Given the description of an element on the screen output the (x, y) to click on. 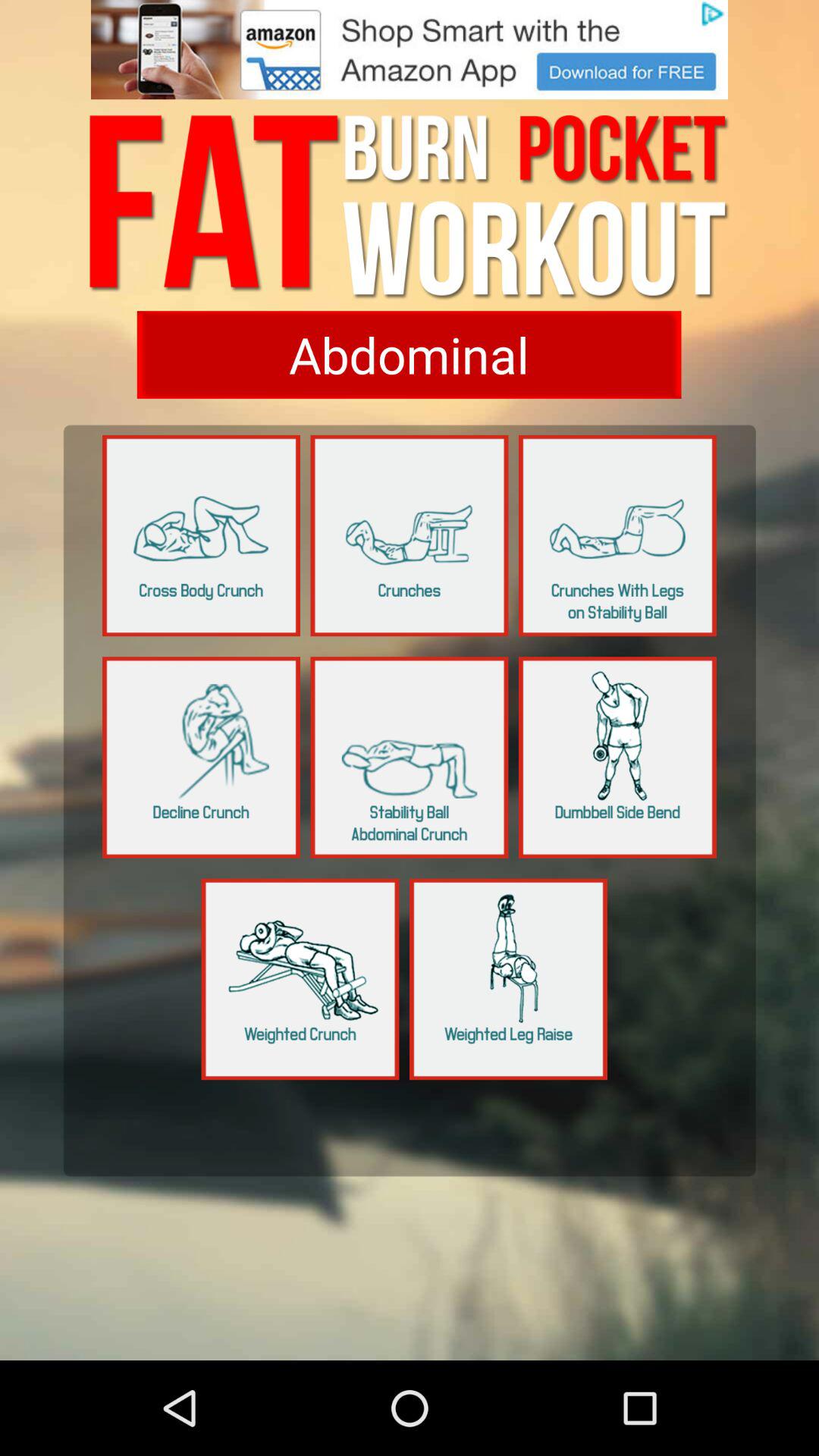
rosourse and execise (409, 757)
